Given the description of an element on the screen output the (x, y) to click on. 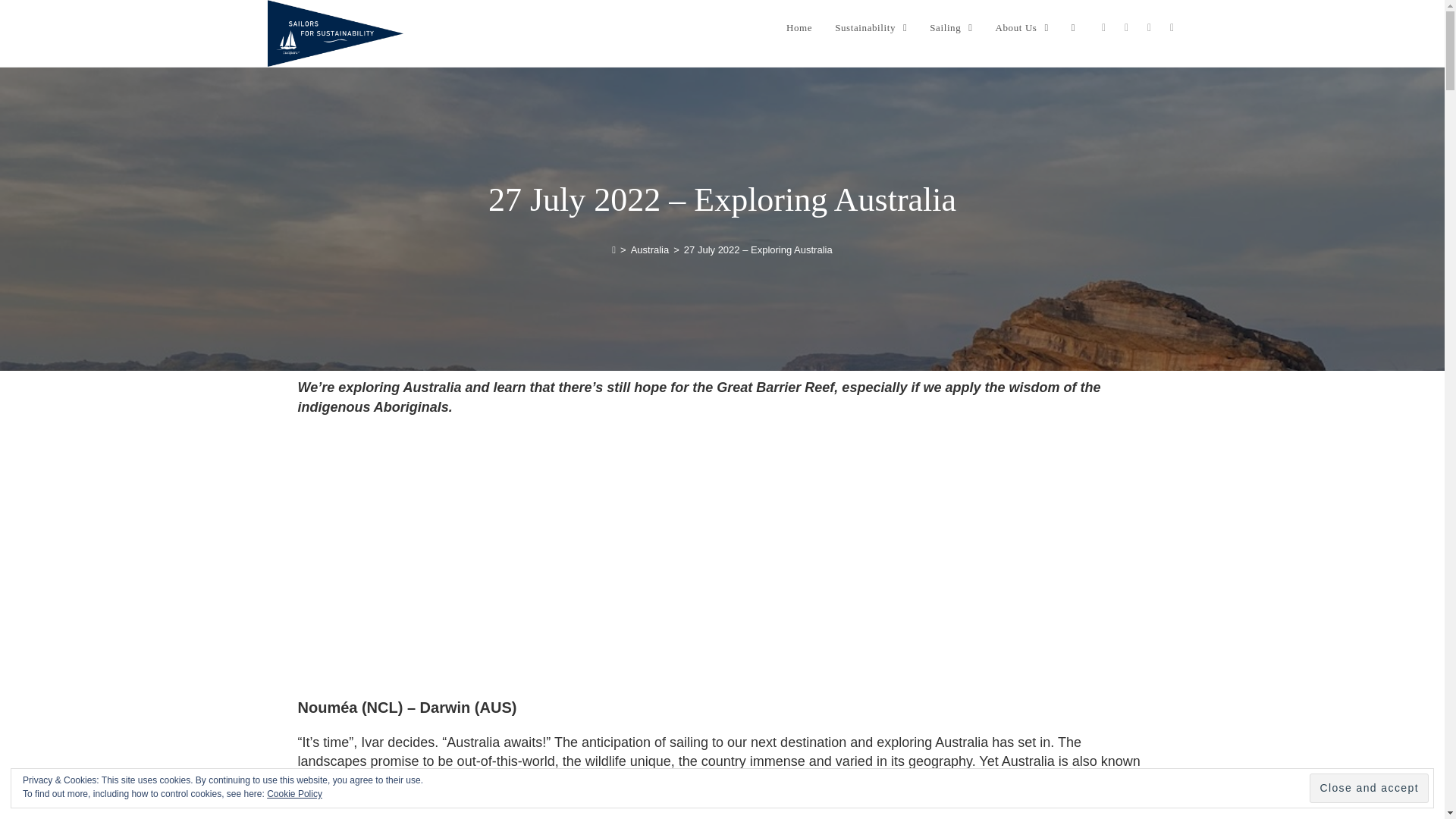
Australia (649, 249)
Home (799, 28)
About Us (1021, 28)
Sustainability (871, 28)
Sailing (951, 28)
Close and accept (1368, 788)
